Given the description of an element on the screen output the (x, y) to click on. 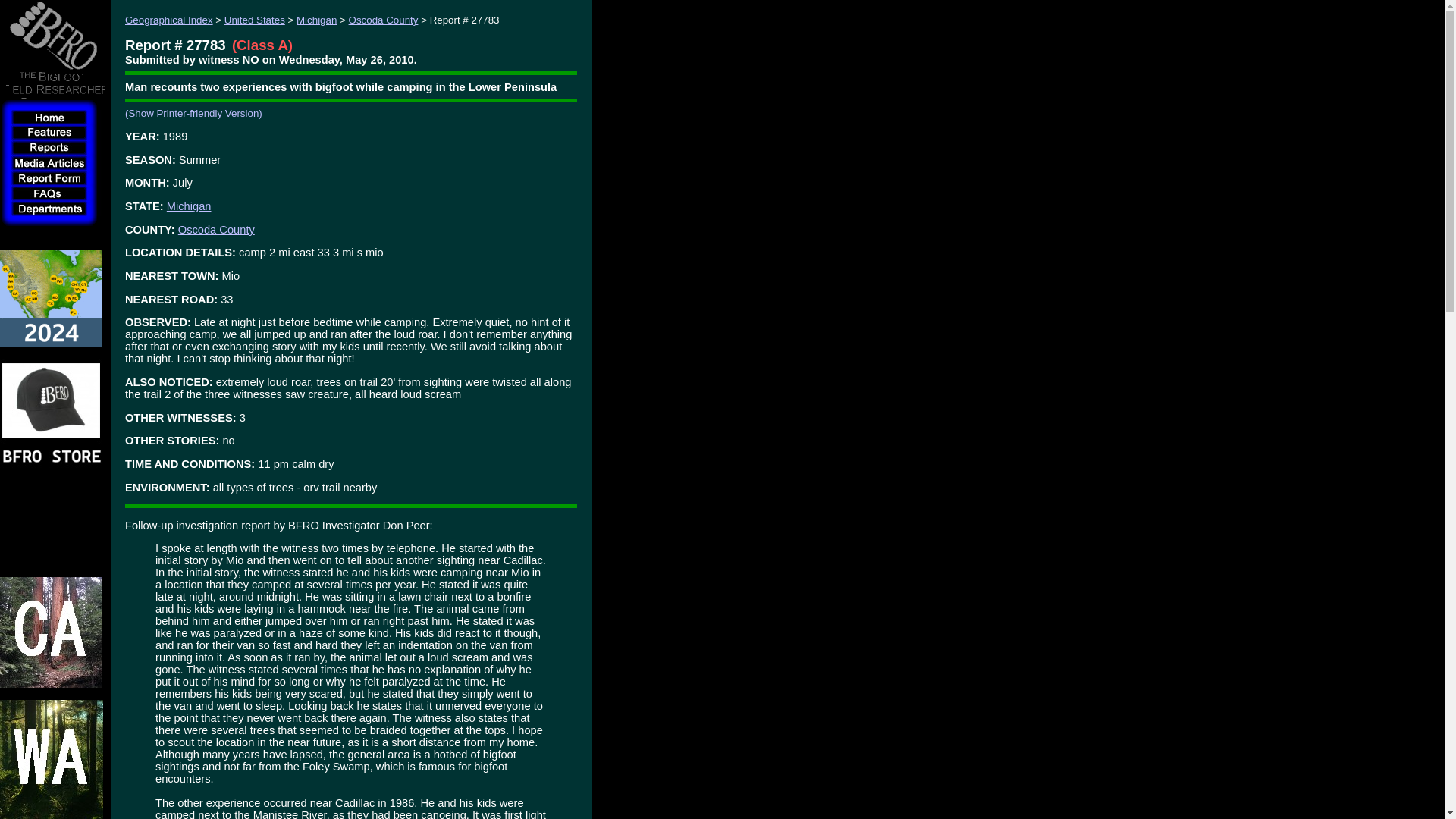
Oscoda County (215, 229)
United States (254, 19)
Geographical Index (168, 19)
Michigan (316, 19)
Oscoda County (384, 19)
Michigan (189, 205)
